Given the description of an element on the screen output the (x, y) to click on. 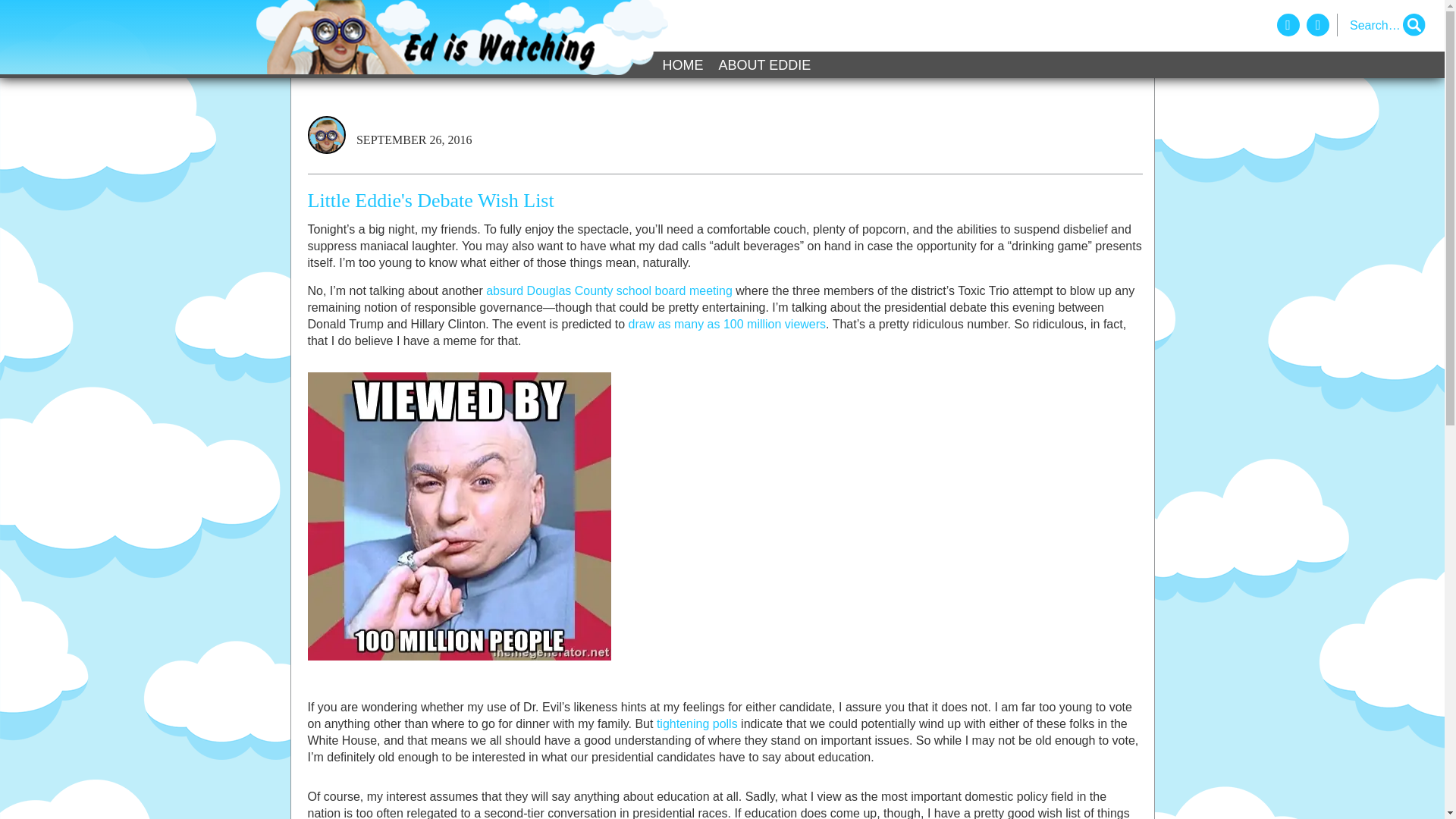
Little Eddie's Debate Wish List (724, 200)
draw as many as 100 million viewers (727, 323)
HOME (682, 64)
absurd Douglas County school board meeting (609, 290)
tightening polls (697, 723)
ABOUT EDDIE (764, 64)
